Given the description of an element on the screen output the (x, y) to click on. 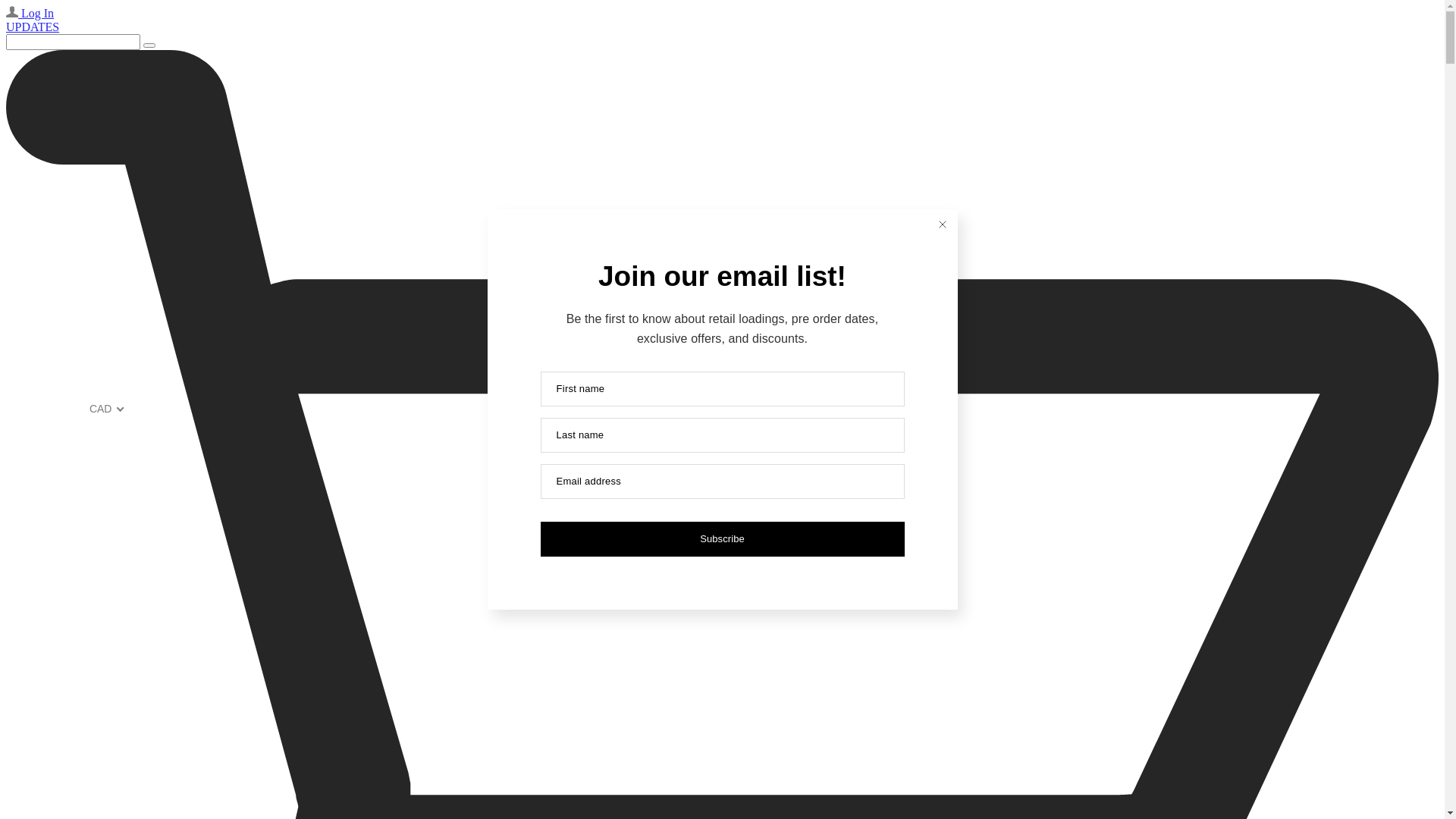
Log In Element type: text (29, 12)
UPDATES Element type: text (32, 26)
